Given the description of an element on the screen output the (x, y) to click on. 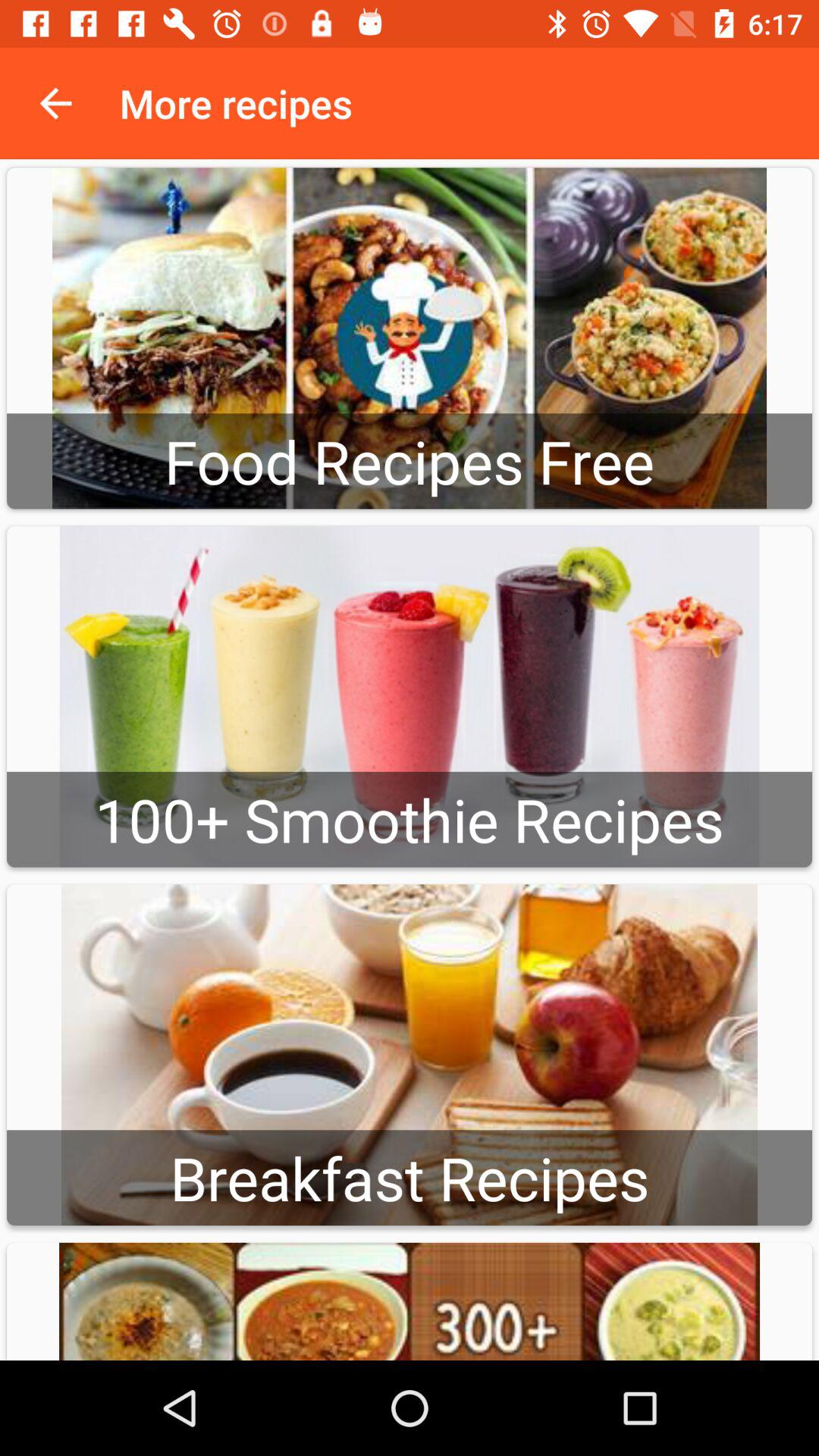
tap the icon to the left of more recipes icon (55, 103)
